Given the description of an element on the screen output the (x, y) to click on. 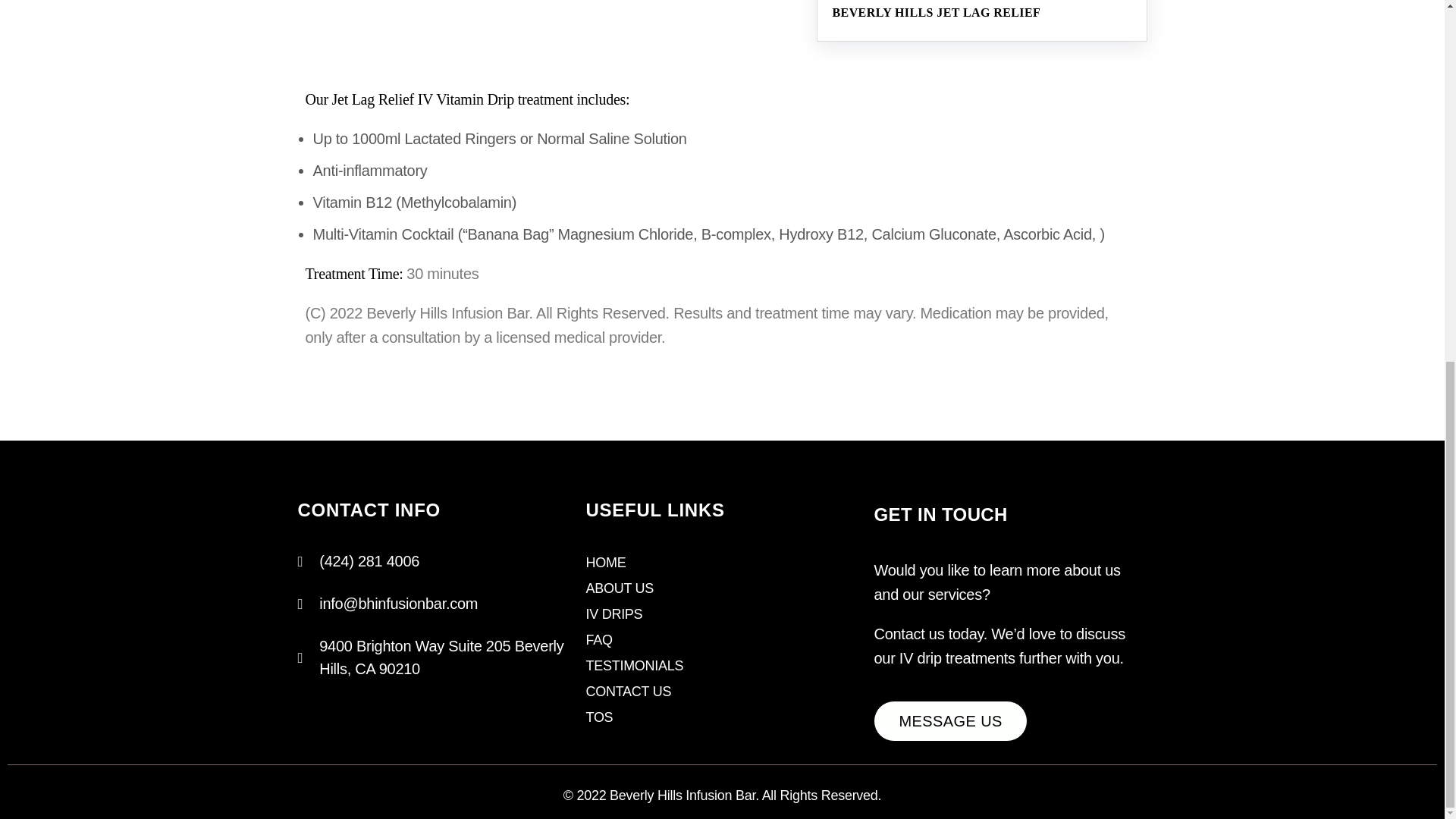
IV DRIPS (613, 614)
BEVERLY HILLS JET LAG RELIEF (1133, 12)
HOME (605, 562)
ABOUT US (619, 588)
MESSAGE US (949, 721)
9400 Brighton Way Suite 205 Beverly Hills, CA 90210 (433, 657)
CONTACT US (628, 691)
TOS (598, 717)
FAQ (598, 639)
TESTIMONIALS (633, 665)
